Given the description of an element on the screen output the (x, y) to click on. 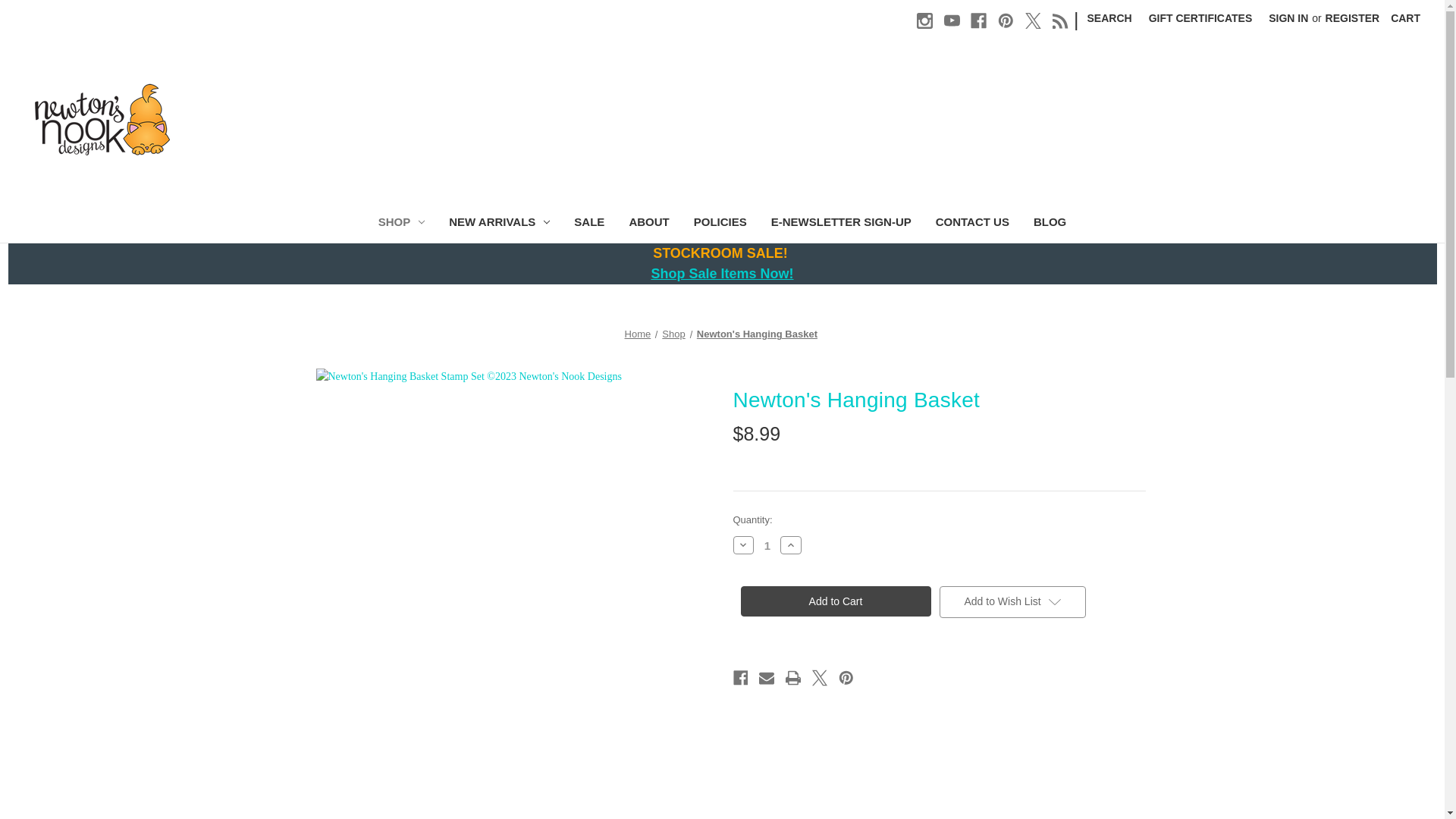
CART (1404, 18)
Youtube (951, 20)
REGISTER (1353, 18)
Facebook (979, 20)
Add to Cart (834, 601)
Rss (1060, 20)
X (1033, 20)
SHOP (402, 223)
SIGN IN (1288, 18)
Instagram (925, 20)
